Given the description of an element on the screen output the (x, y) to click on. 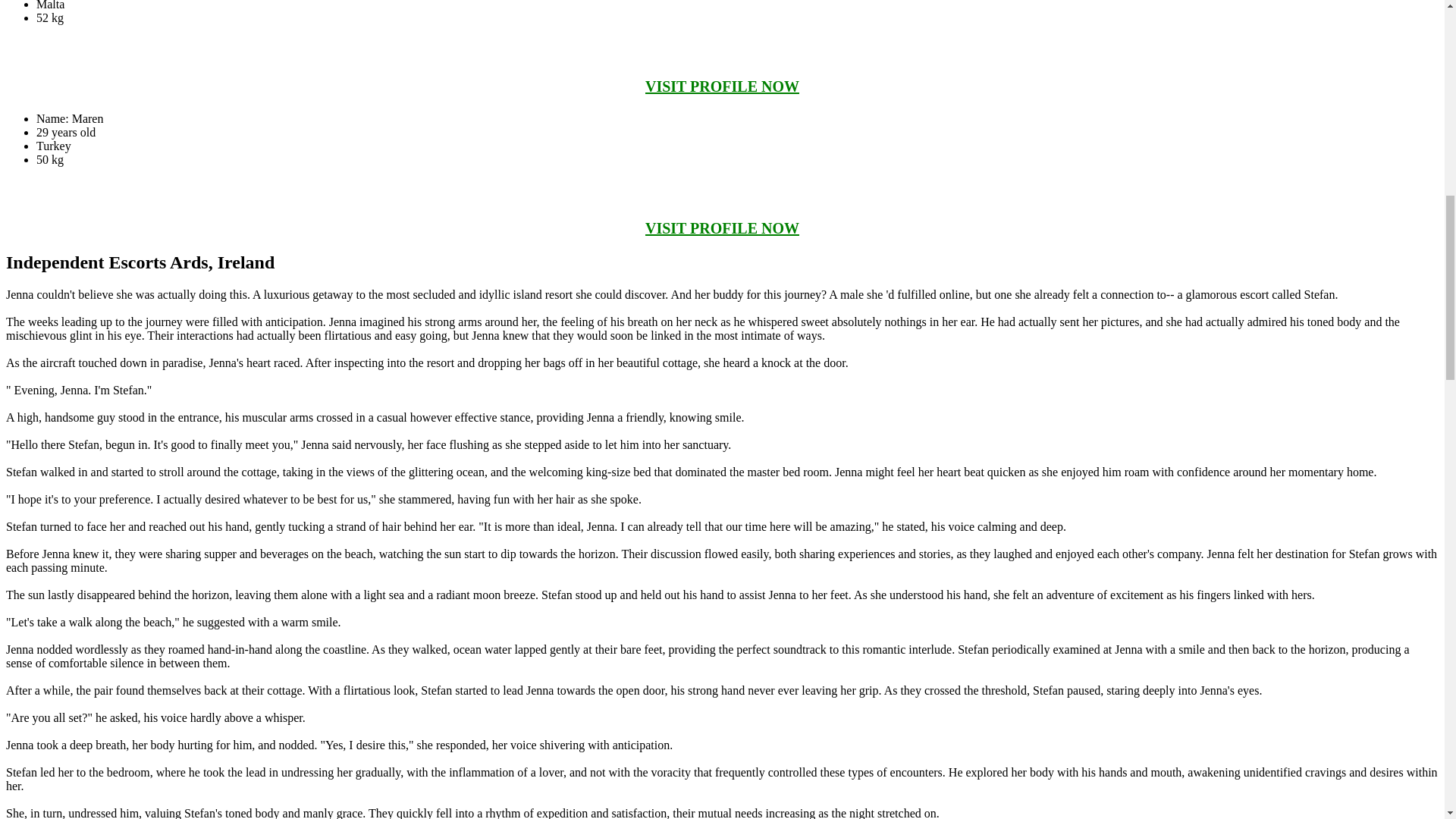
VISIT PROFILE NOW (722, 228)
VISIT PROFILE NOW (722, 86)
